Given the description of an element on the screen output the (x, y) to click on. 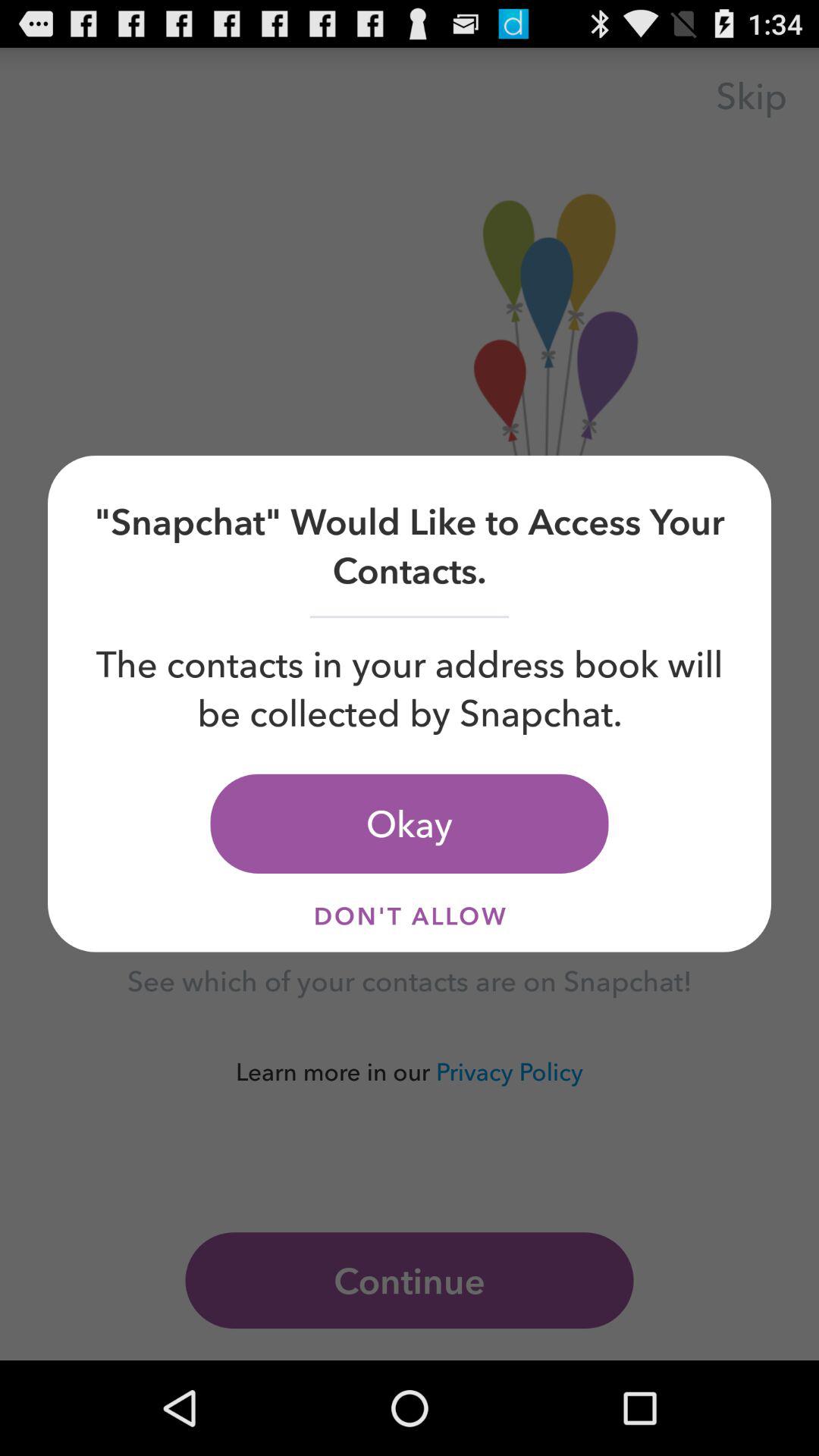
select don't allow (409, 915)
